Given the description of an element on the screen output the (x, y) to click on. 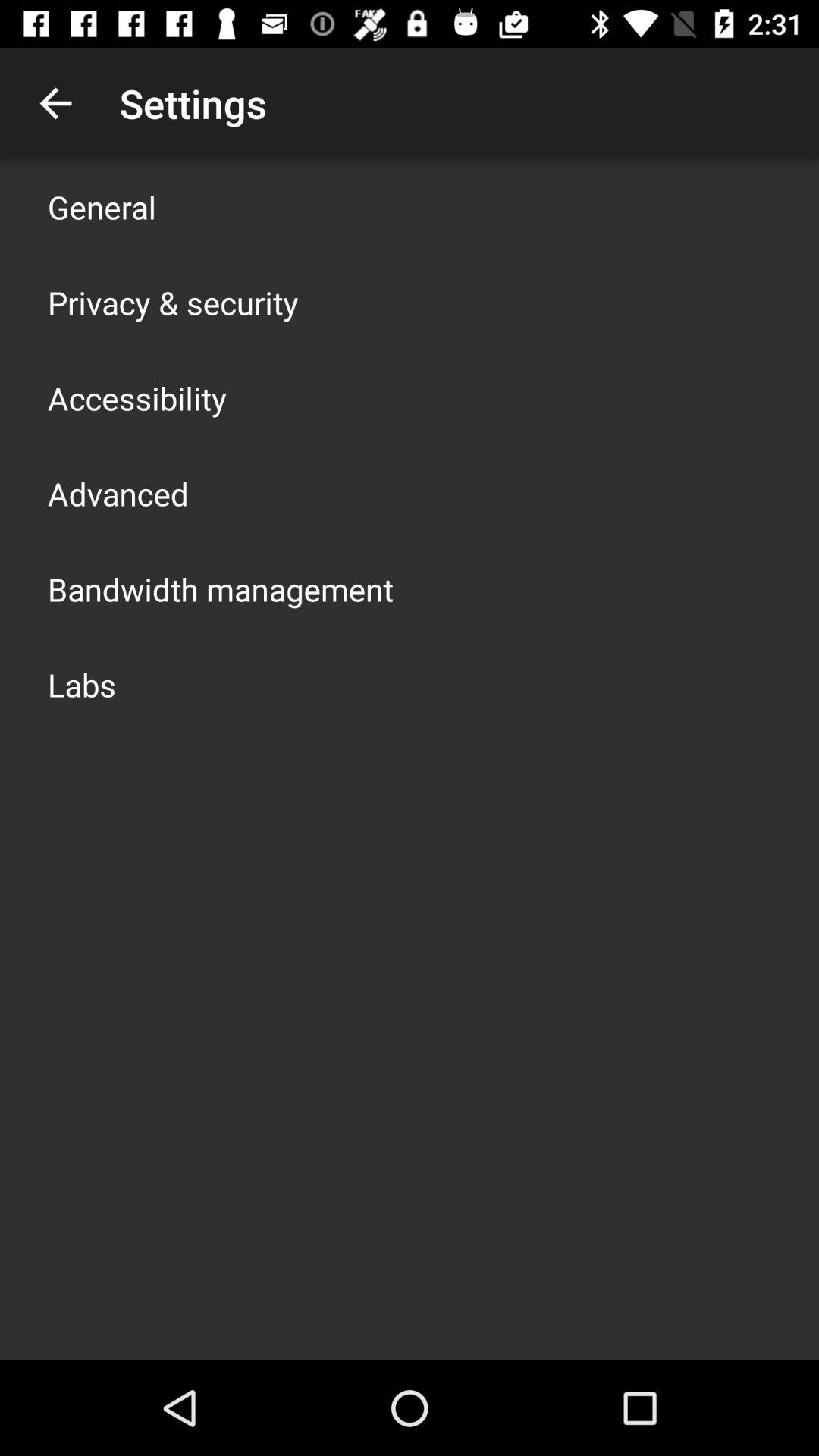
scroll to bandwidth management (220, 588)
